Given the description of an element on the screen output the (x, y) to click on. 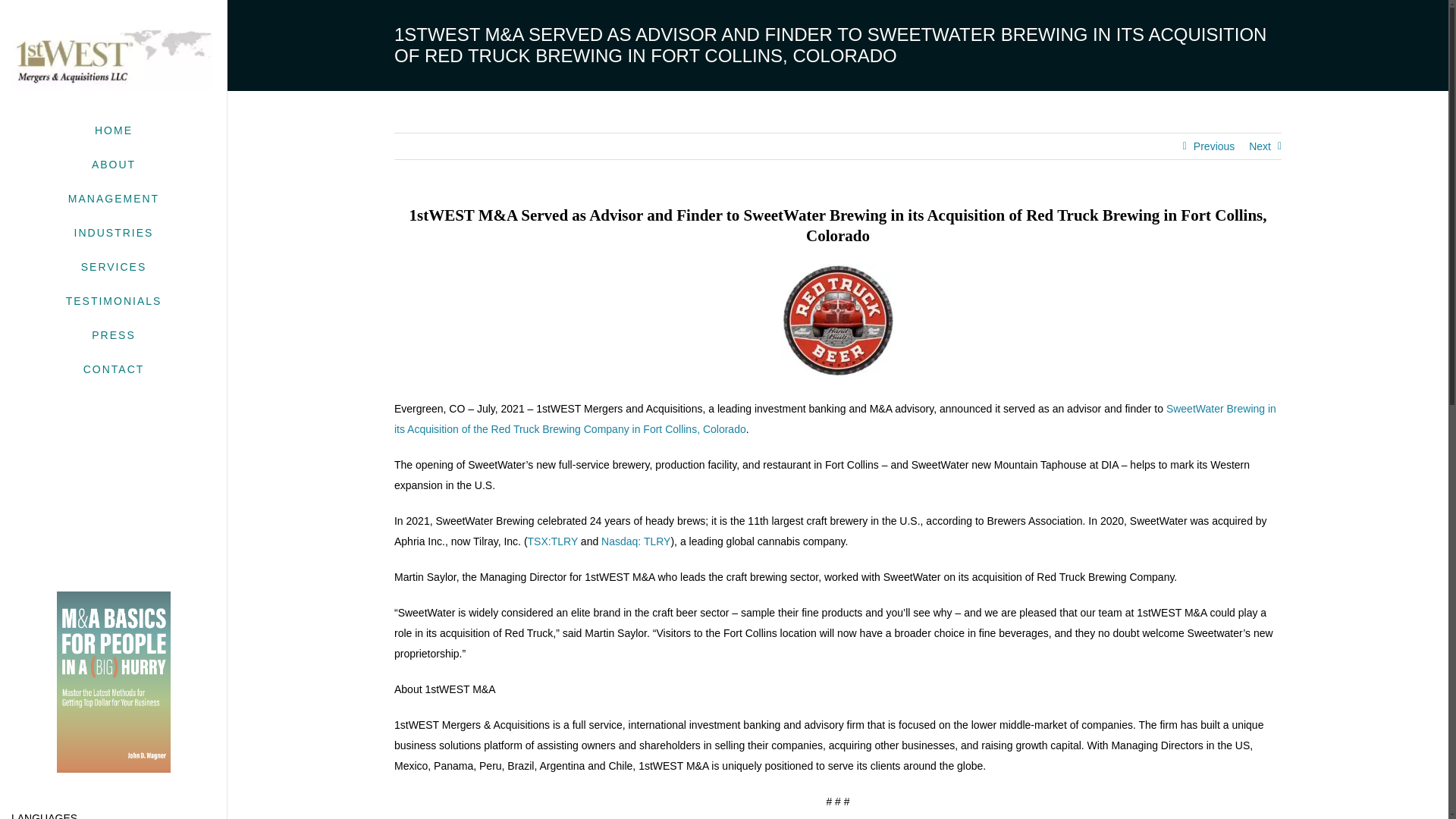
MANAGEMENT (113, 198)
YouTube video player 1 (113, 508)
TSX:TLRY (552, 541)
INDUSTRIES (113, 233)
Next (1260, 145)
SERVICES (113, 267)
ABOUT (113, 164)
Previous (1213, 145)
CONTACT (113, 369)
TESTIMONIALS (113, 705)
HOME (113, 301)
PRESS (113, 130)
Nasdaq: TLRY (113, 335)
